Given the description of an element on the screen output the (x, y) to click on. 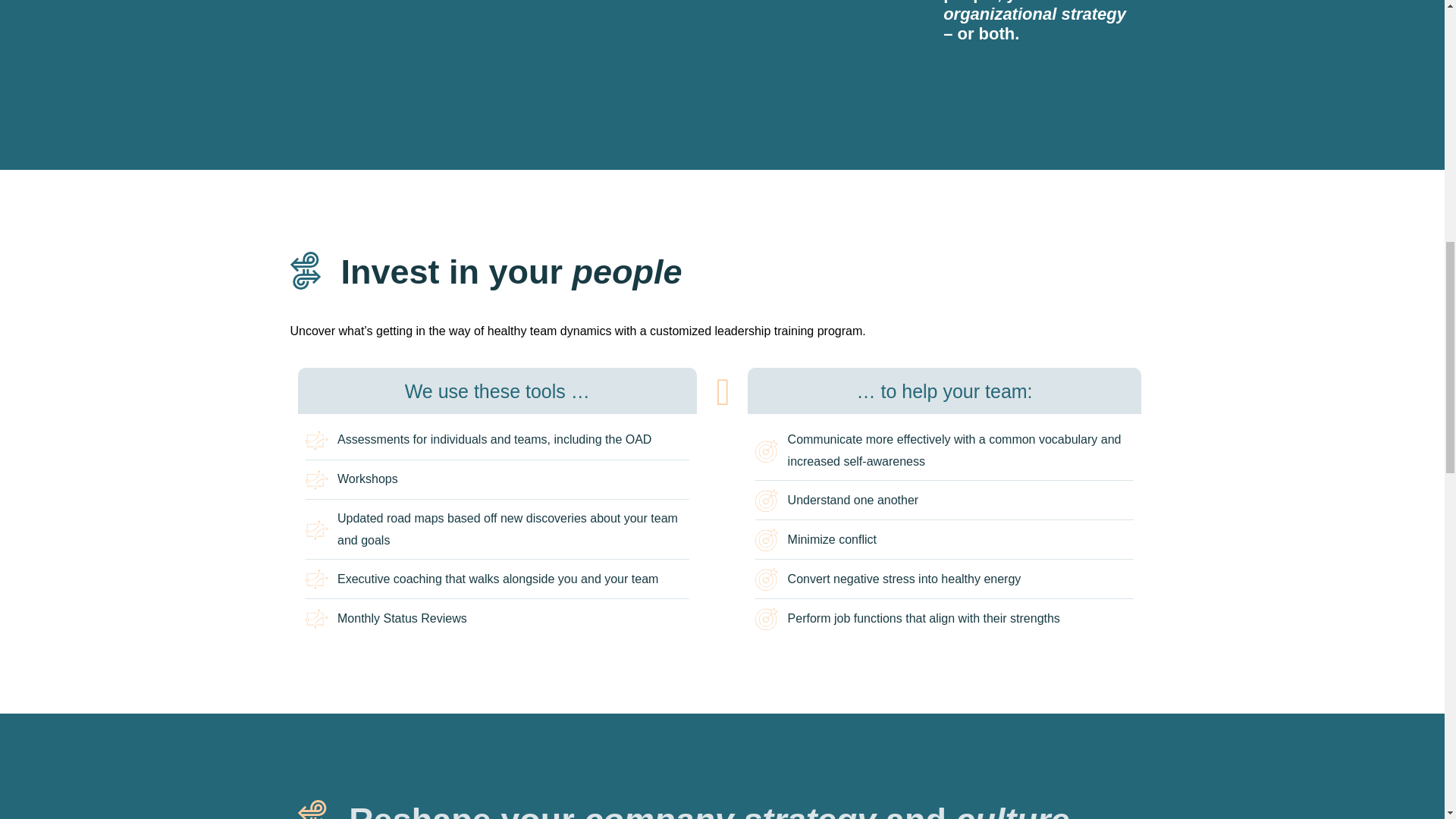
organizational strategy (1034, 13)
Assessments for individuals and teams, including the OAD (496, 440)
people, (974, 1)
